Given the description of an element on the screen output the (x, y) to click on. 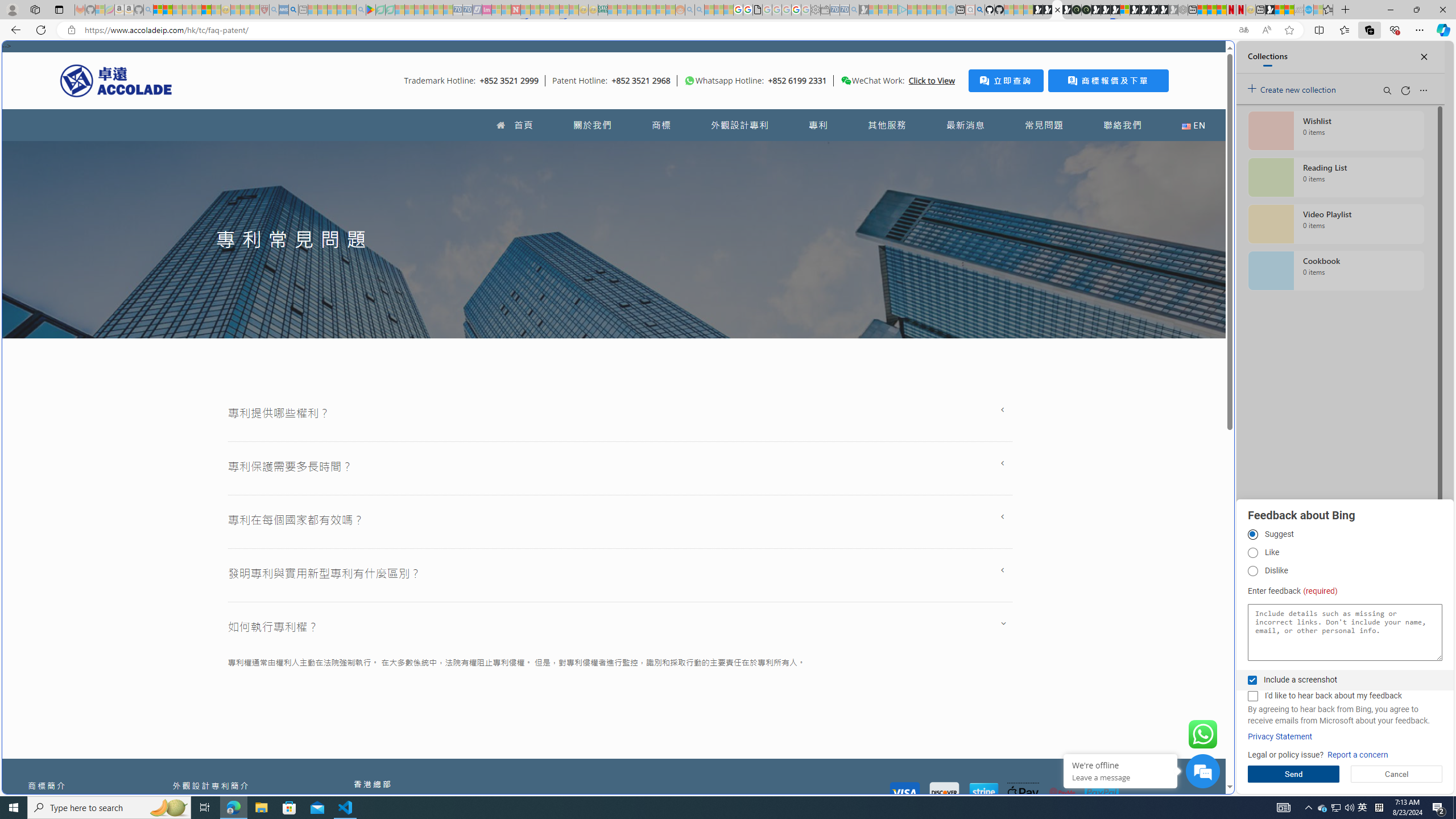
Search or enter web address (922, 108)
Bluey: Let's Play! - Apps on Google Play (370, 9)
I'd like to hear back about my feedback (1252, 696)
